Given the description of an element on the screen output the (x, y) to click on. 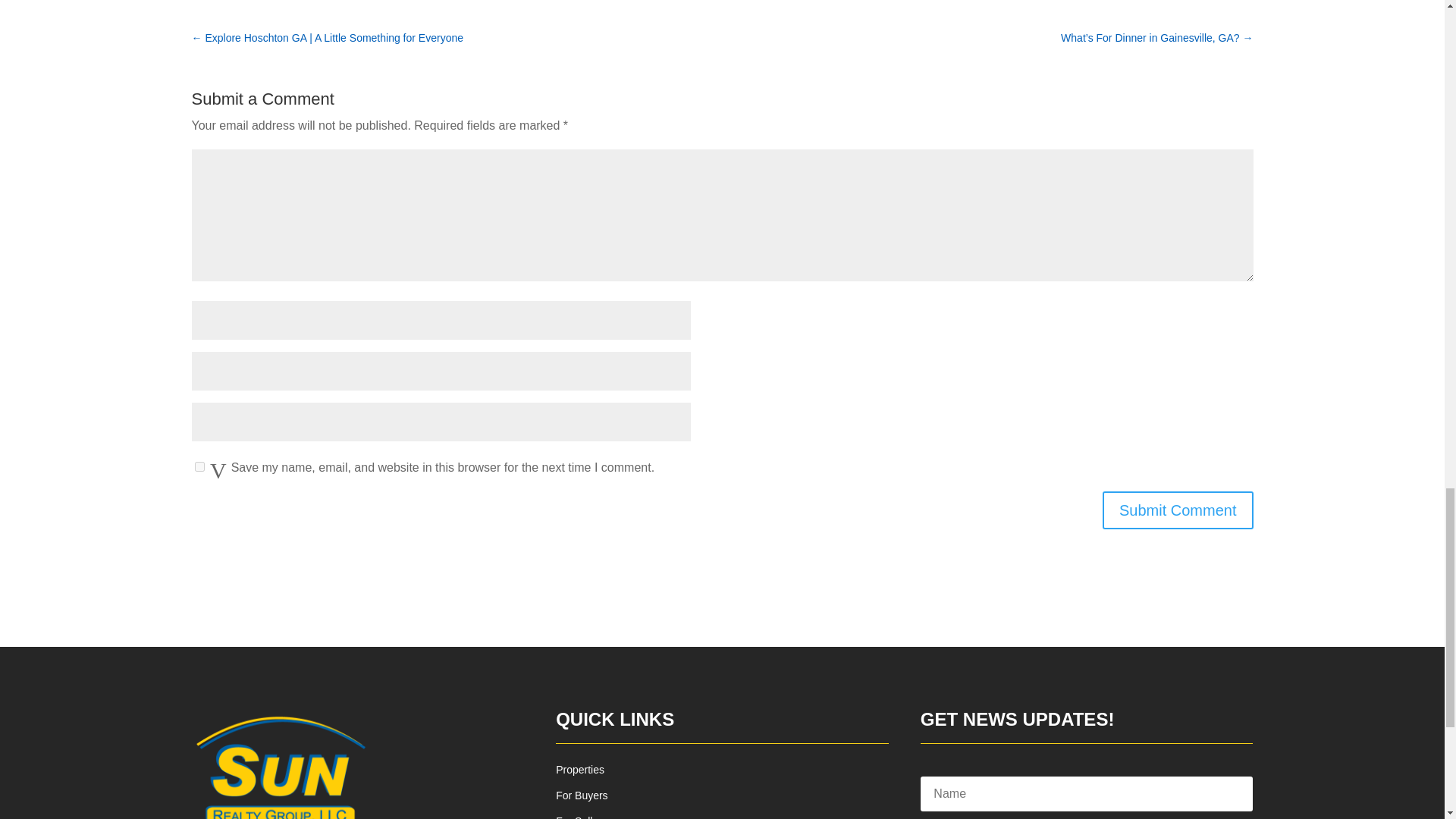
Submit Comment (1177, 510)
sun-realty (280, 765)
yes (198, 466)
